Given the description of an element on the screen output the (x, y) to click on. 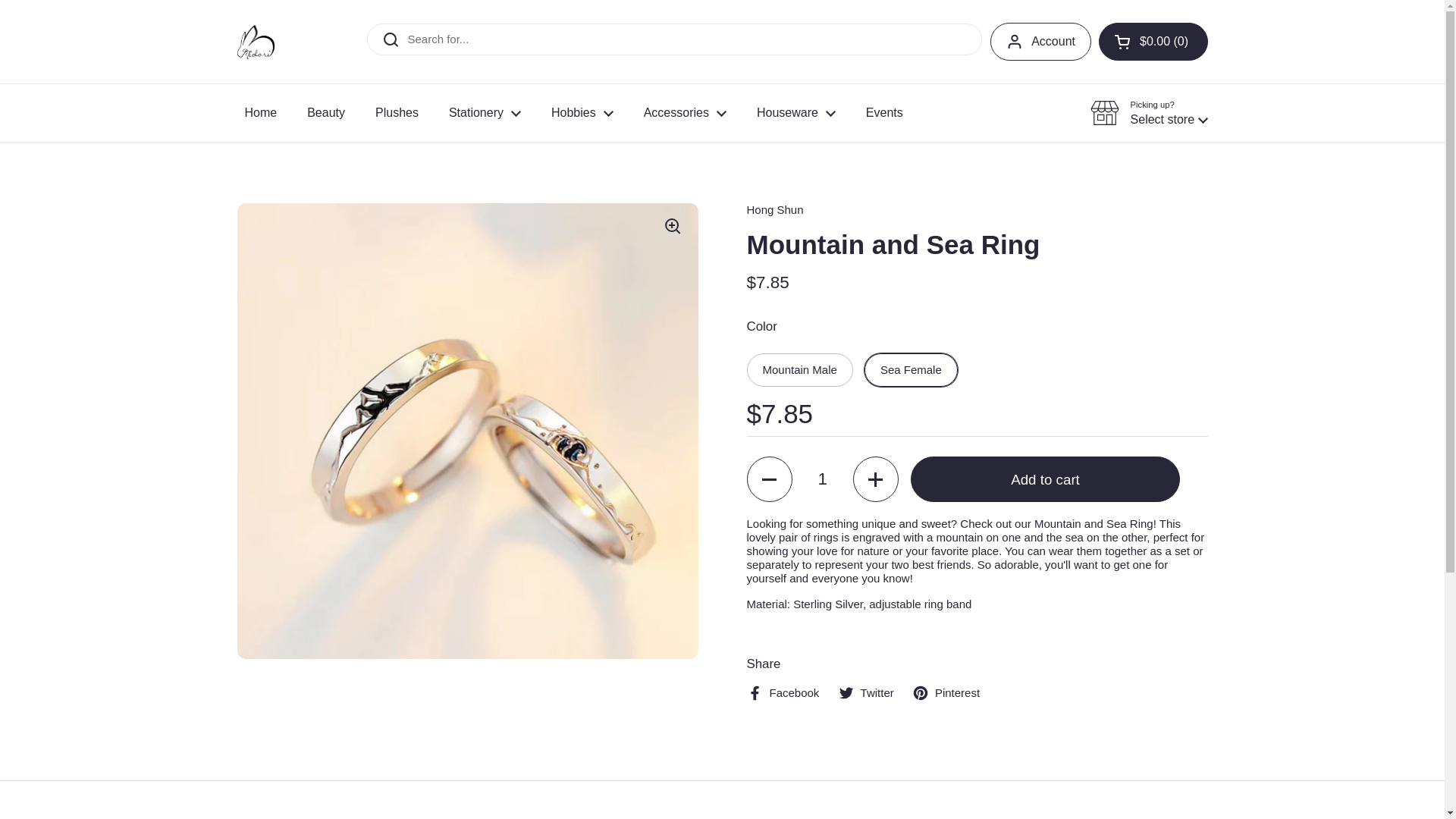
Accessories (684, 112)
1 (822, 479)
Hobbies (581, 112)
Plushes (396, 112)
Share on facebook (781, 692)
Beauty (325, 112)
Stationery (484, 112)
Share on twitter (865, 692)
Midori Gifts (255, 41)
